Given the description of an element on the screen output the (x, y) to click on. 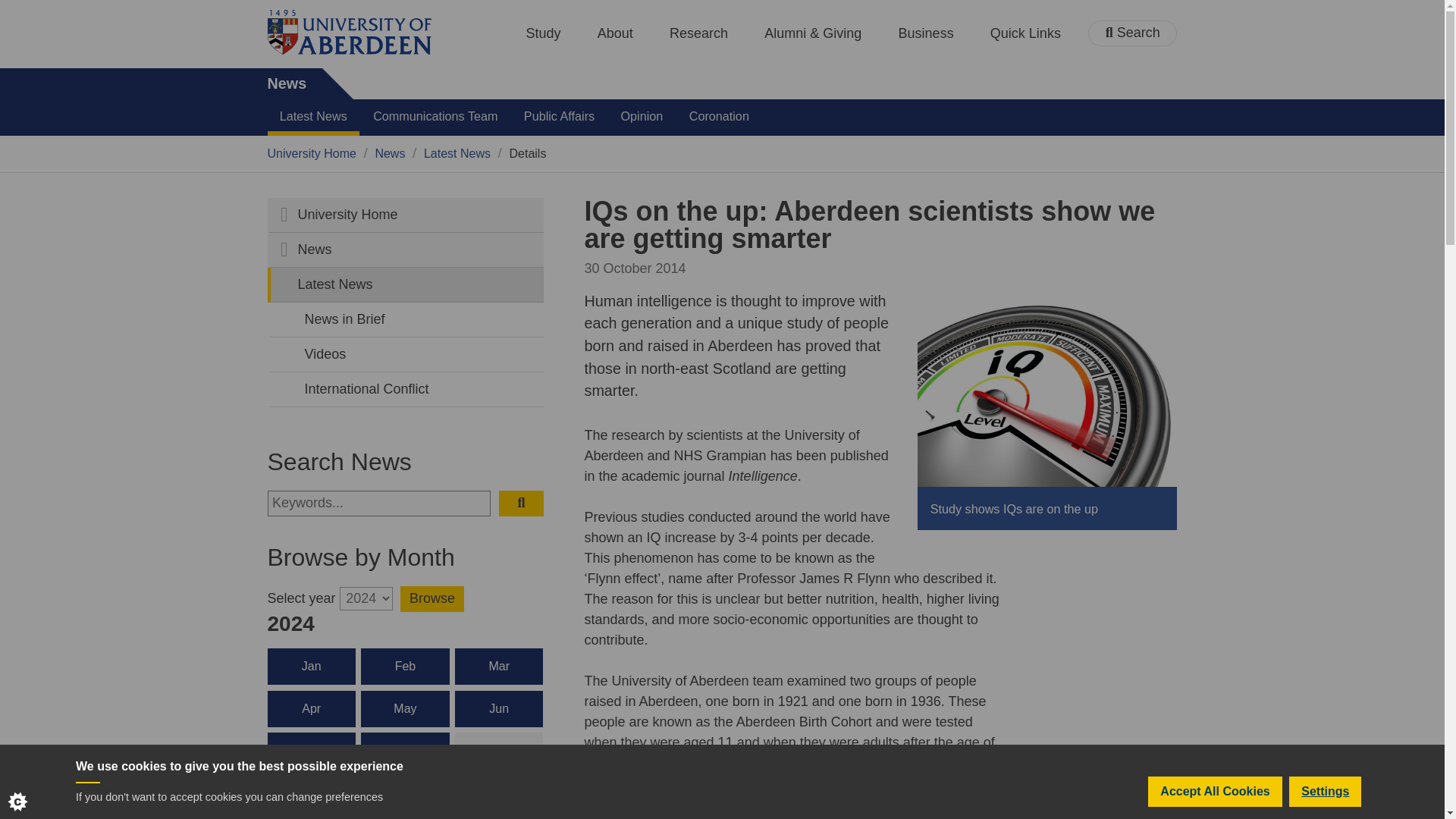
About (614, 33)
View items for August 2024 (404, 750)
View items for July 2024 (311, 750)
View items for April 2024 (311, 709)
Study shows IQs are on the up (1046, 392)
View items for June 2024 (498, 709)
View items for January 2024 (311, 666)
View items for March 2024 (498, 666)
View items for February 2024 (404, 666)
Study (542, 33)
